Given the description of an element on the screen output the (x, y) to click on. 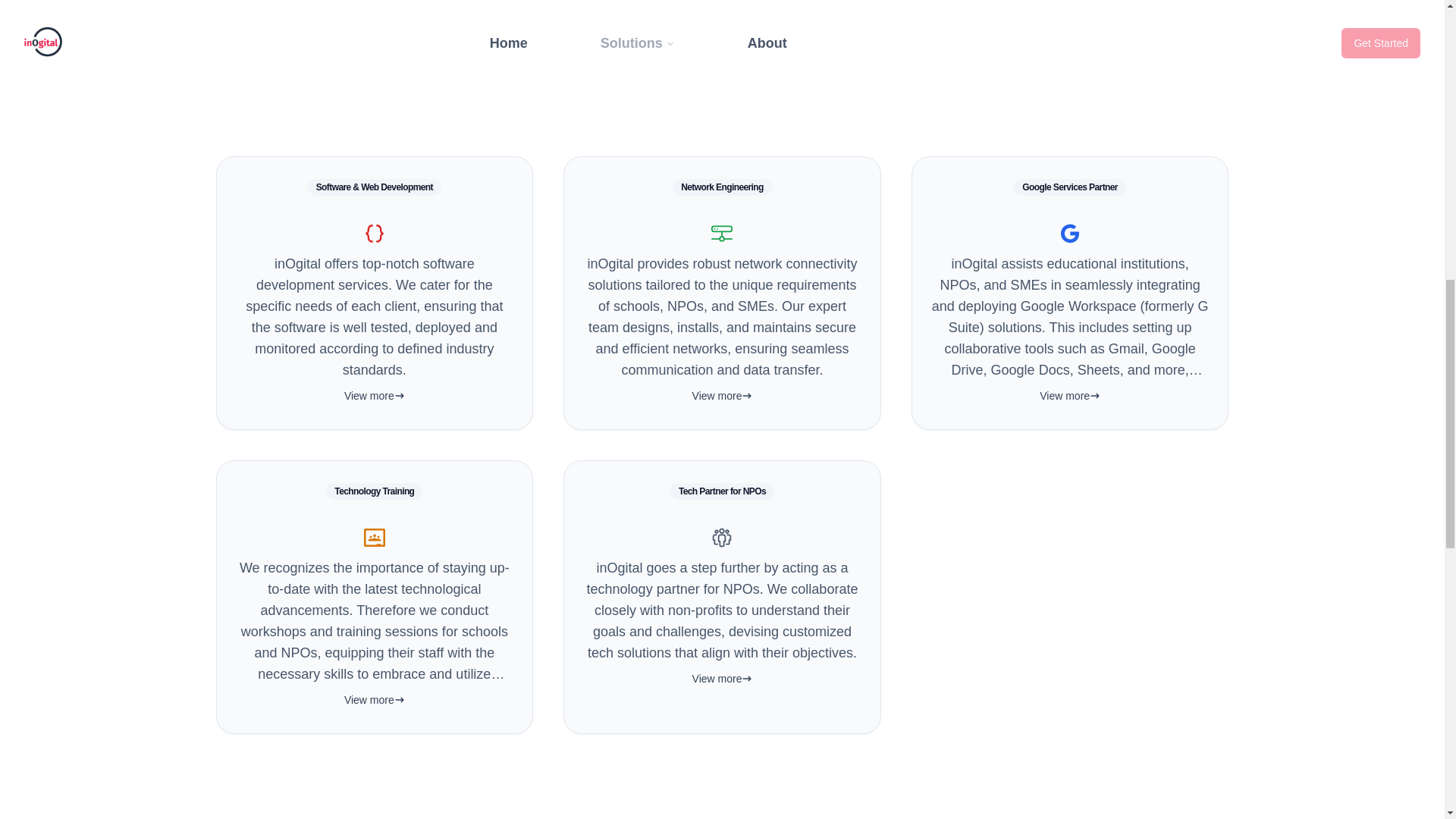
View more (722, 678)
View more (1070, 395)
View more (1070, 395)
View more (722, 395)
View more (722, 678)
View more (374, 699)
View more (722, 395)
View more (374, 395)
View more (374, 395)
View more (374, 699)
